Given the description of an element on the screen output the (x, y) to click on. 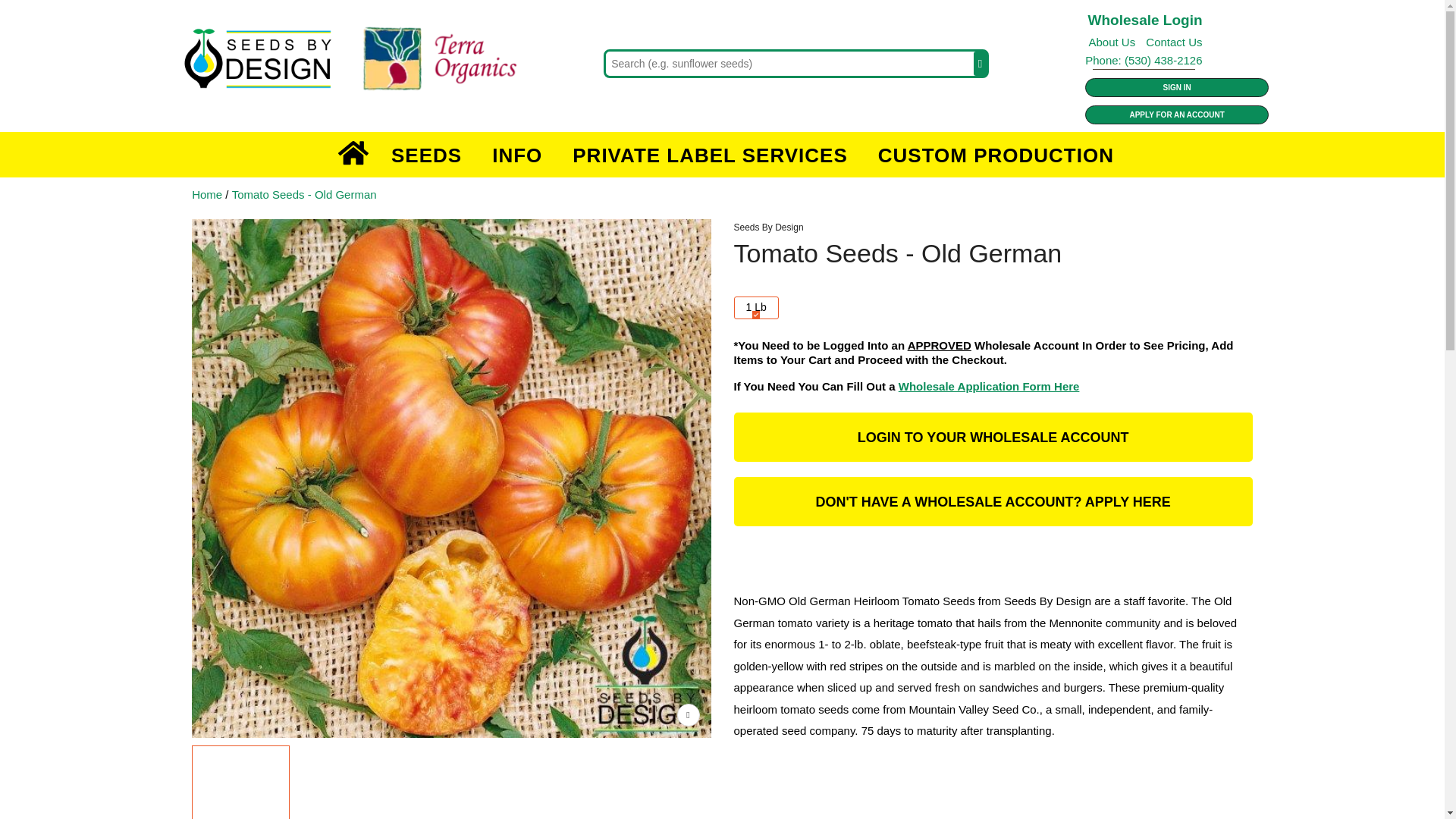
Wholesale Login (1144, 19)
SIGN IN (1176, 87)
SEEDS (426, 154)
Private Label Services (709, 154)
Info (517, 154)
PRIVATE LABEL SERVICES (709, 154)
Custom Production (996, 154)
APPLY FOR AN ACCOUNT (1176, 114)
CUSTOM PRODUCTION (996, 154)
Seeds (426, 154)
About Us (1111, 42)
Seeds By Design (368, 61)
Contact Us (1170, 42)
Home (352, 155)
INFO (517, 154)
